Given the description of an element on the screen output the (x, y) to click on. 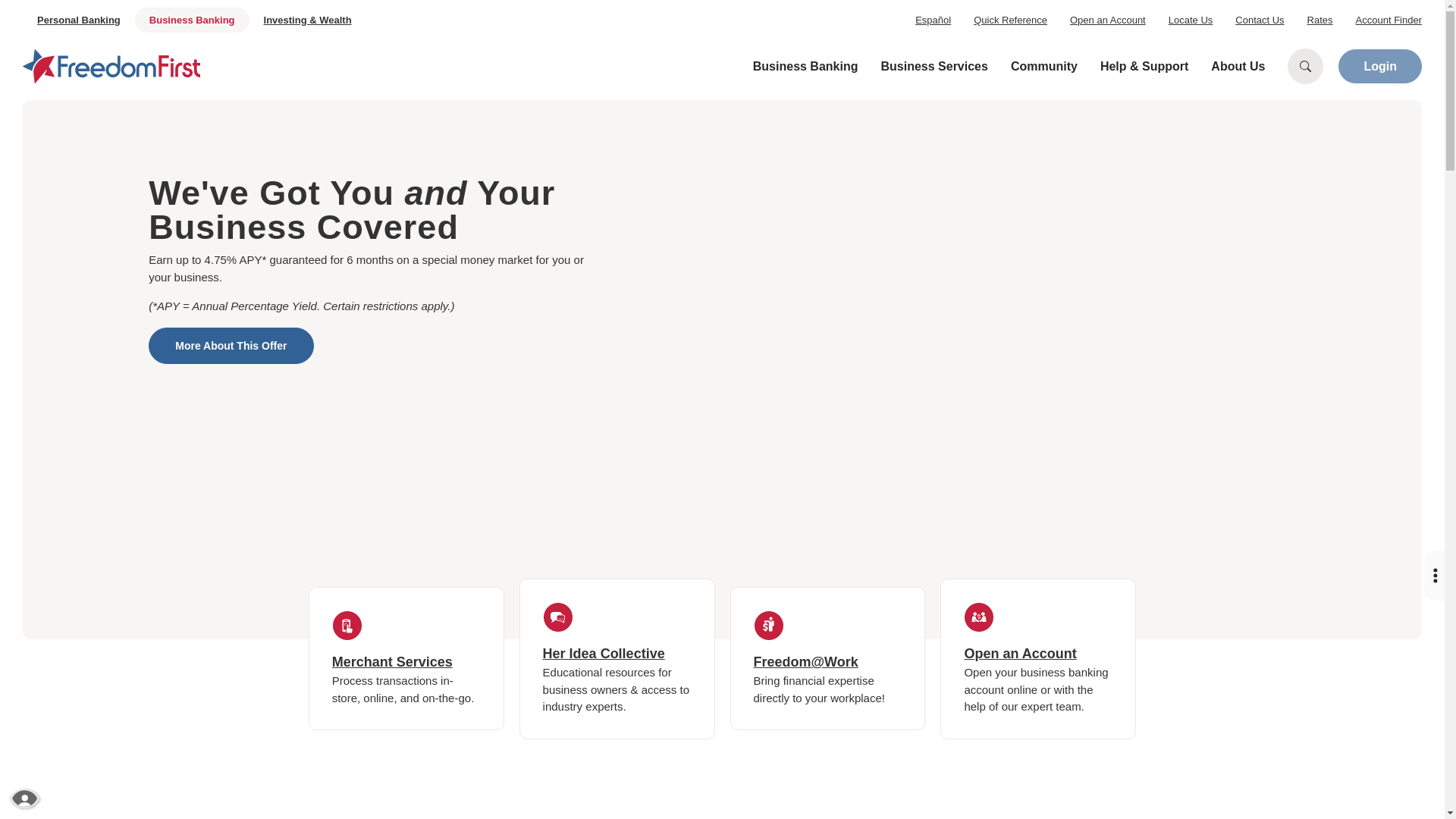
Rates (1320, 19)
Open an Account (1107, 19)
Freedom First, Roanoke, VA (111, 65)
Locate Us (1190, 19)
Personal Banking (79, 19)
Quick Reference (1010, 19)
Account Finder (1388, 19)
Contact Us (1259, 19)
